Given the description of an element on the screen output the (x, y) to click on. 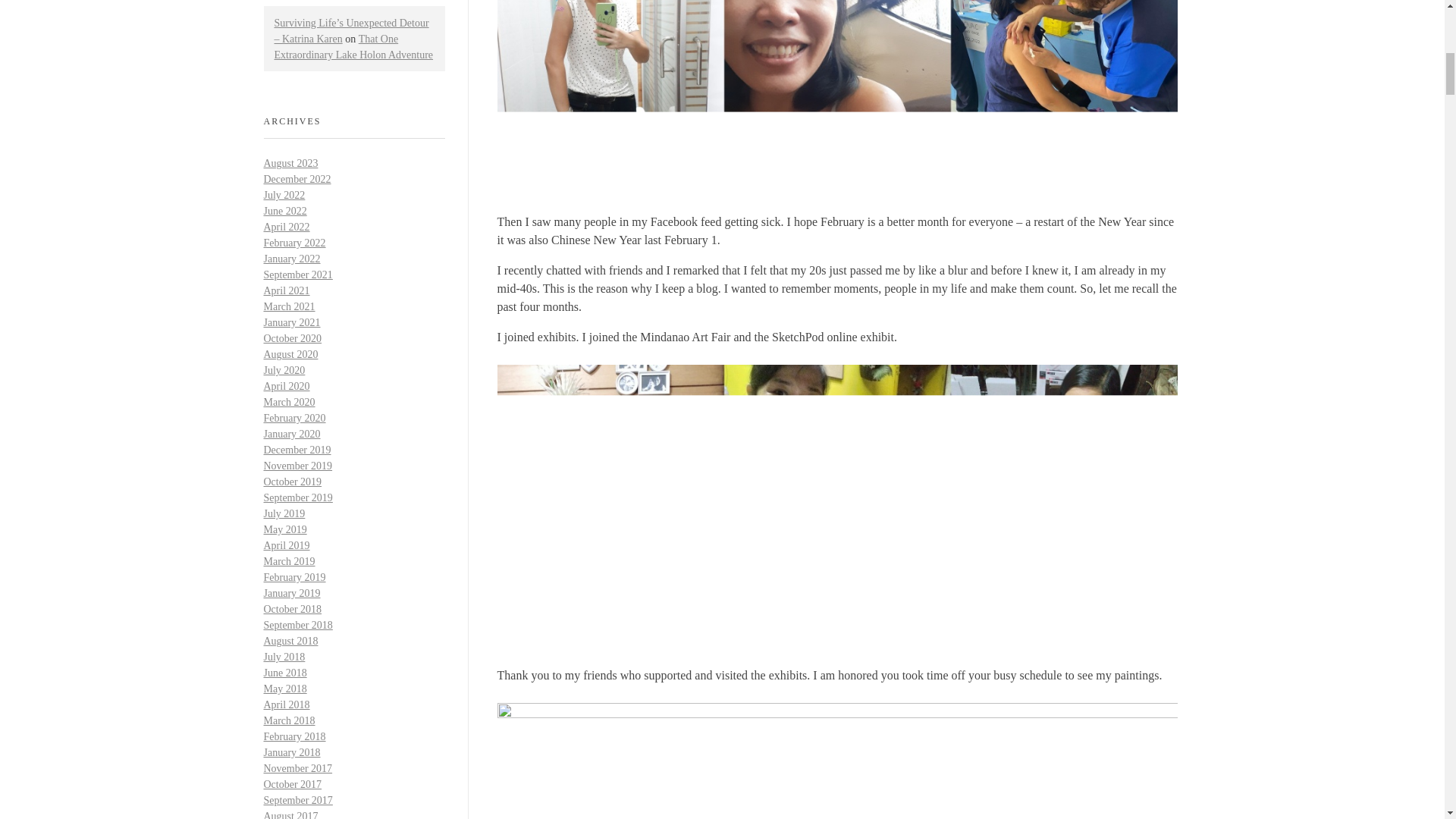
August 2023 (290, 163)
June 2022 (285, 211)
December 2022 (297, 179)
That One Extraordinary Lake Holon Adventure (354, 46)
July 2022 (284, 194)
